Given the description of an element on the screen output the (x, y) to click on. 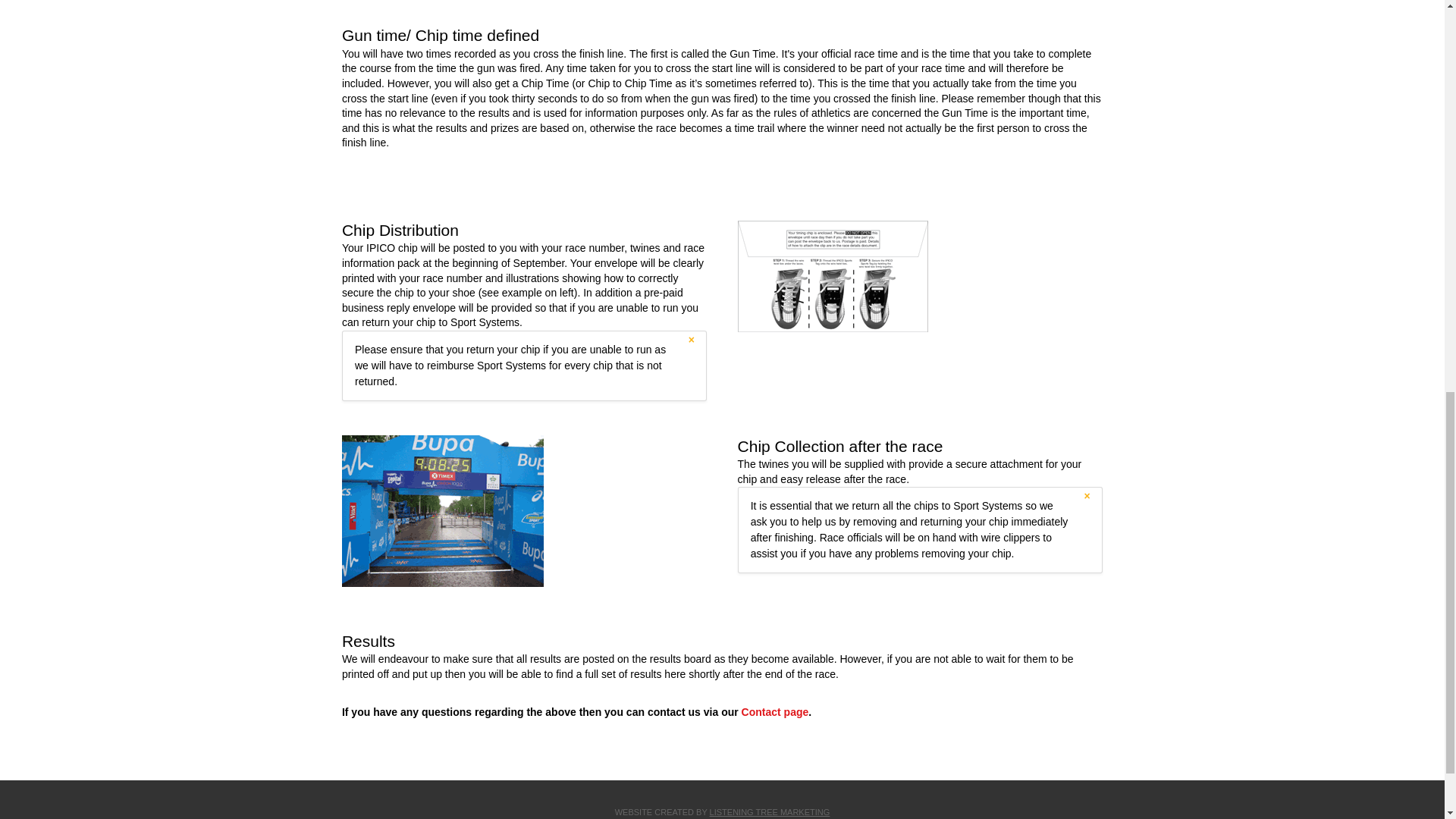
Contact page (775, 711)
LISTENING TREE MARKETING (769, 811)
